Given the description of an element on the screen output the (x, y) to click on. 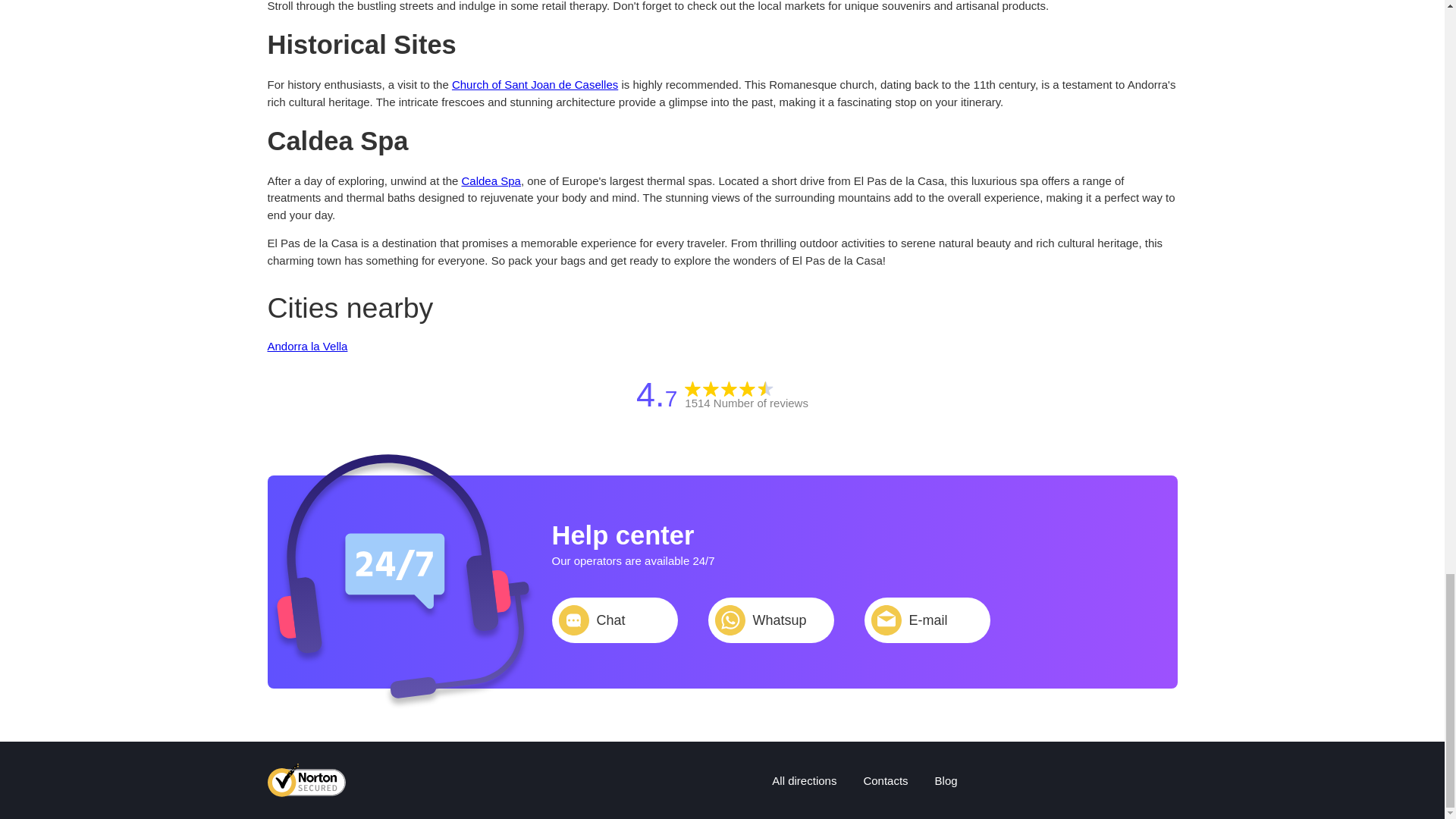
Andorra la Vella (306, 345)
Caldea Spa (490, 180)
Whatsup (770, 619)
All directions (803, 780)
Church of Sant Joan de Caselles (534, 83)
Contacts (885, 780)
Blog (946, 780)
Chat (614, 619)
App Store (406, 779)
E-mail (927, 619)
Google Play (508, 779)
